Given the description of an element on the screen output the (x, y) to click on. 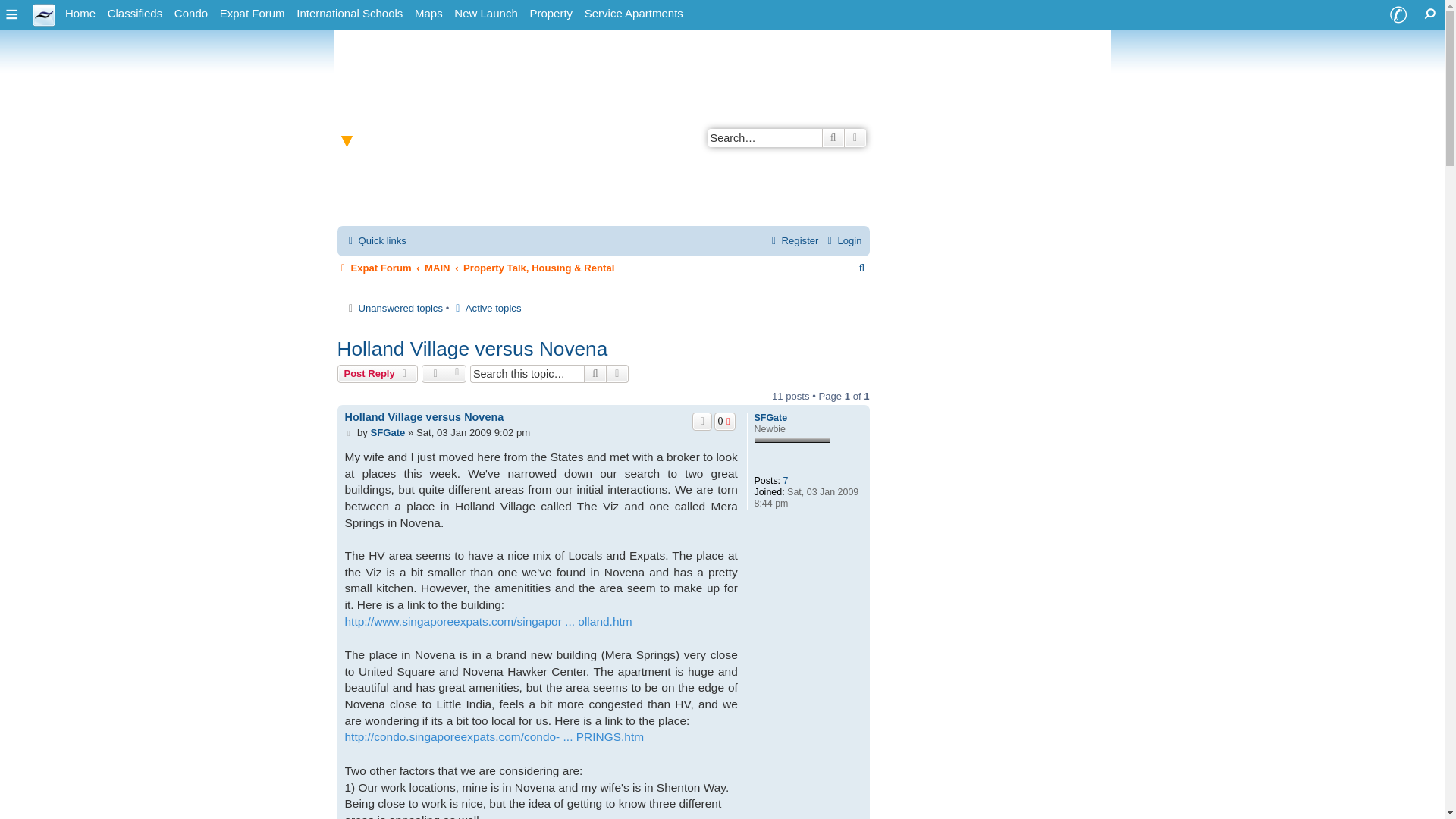
Singapore Expats (80, 13)
Singapore International Schools (349, 13)
Singapore Expats (44, 13)
International Schools (349, 13)
Singapore Property (550, 13)
Maps (428, 13)
Contact Us (1397, 15)
Property (550, 13)
Singapore Classified Ads (135, 13)
Singapore Expats Forum (252, 13)
